Given the description of an element on the screen output the (x, y) to click on. 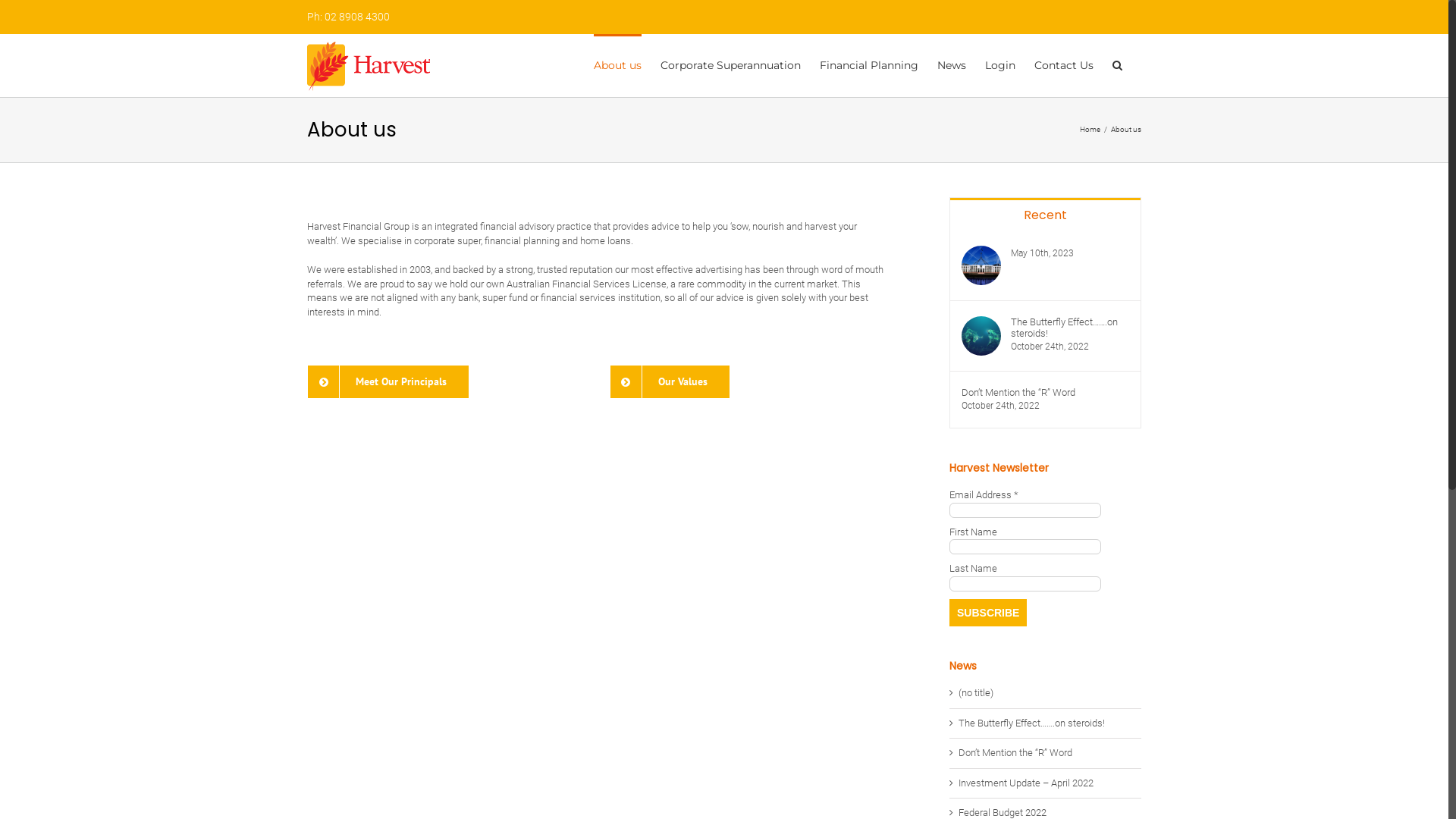
Federal Budget 2022 Element type: text (1002, 812)
Subscribe Element type: text (987, 612)
Search Element type: hover (1117, 63)
Recent Element type: text (1045, 213)
Contact Us Element type: text (1063, 63)
Meet Our Principals Element type: text (388, 381)
Financial Planning Element type: text (868, 63)
Our Values Element type: text (669, 381)
Home Element type: text (1089, 129)
About us Element type: text (617, 63)
News Element type: text (951, 63)
Login Element type: text (1000, 63)
(no title) Element type: text (975, 692)
Corporate Superannuation Element type: text (730, 63)
